Given the description of an element on the screen output the (x, y) to click on. 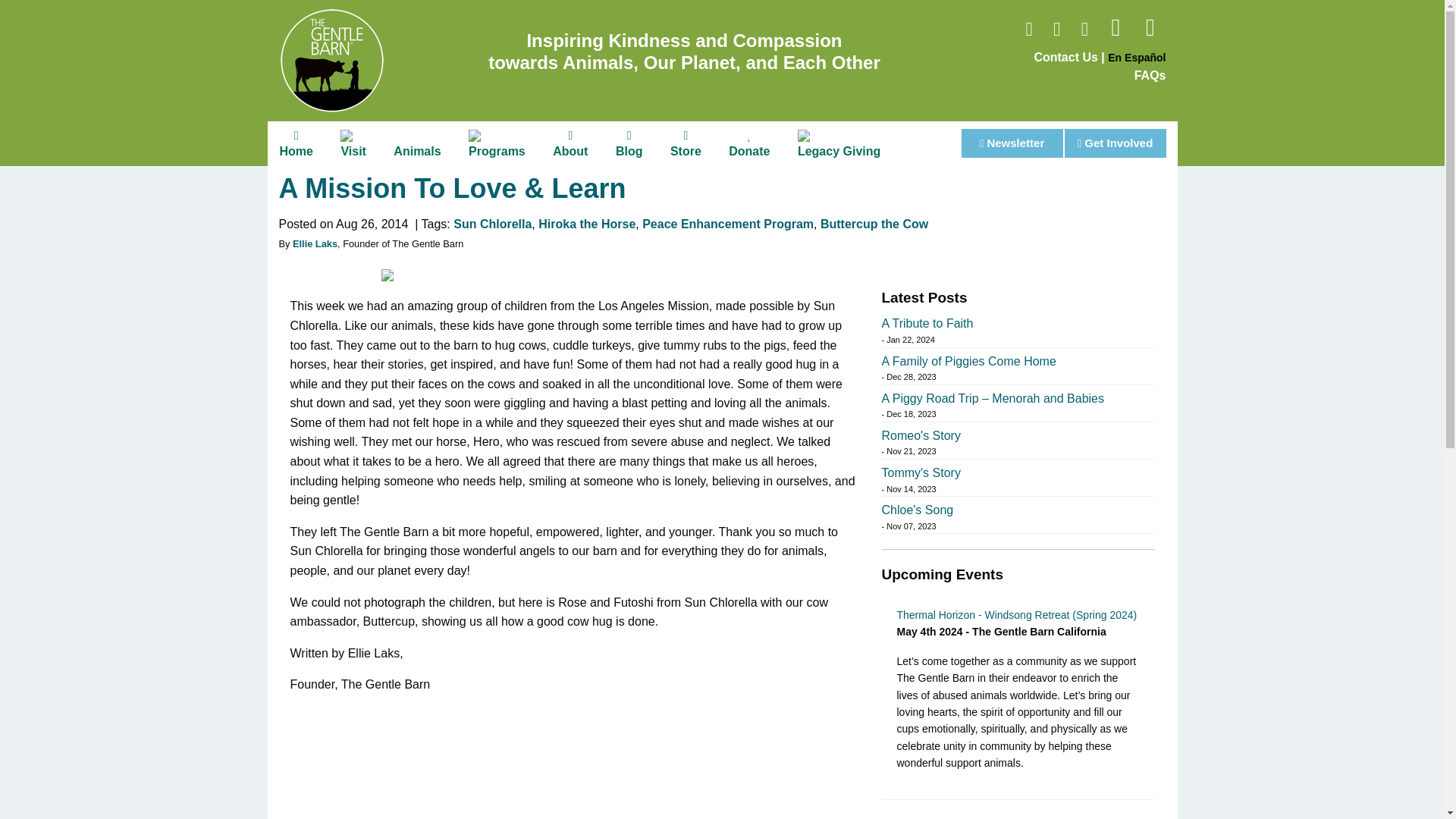
Contact Us (1065, 56)
About (569, 143)
Animals (416, 149)
FAQs (1150, 74)
Programs (497, 143)
Home (295, 143)
Blog (629, 143)
Visit (353, 143)
LinkedIn (1150, 31)
